Given the description of an element on the screen output the (x, y) to click on. 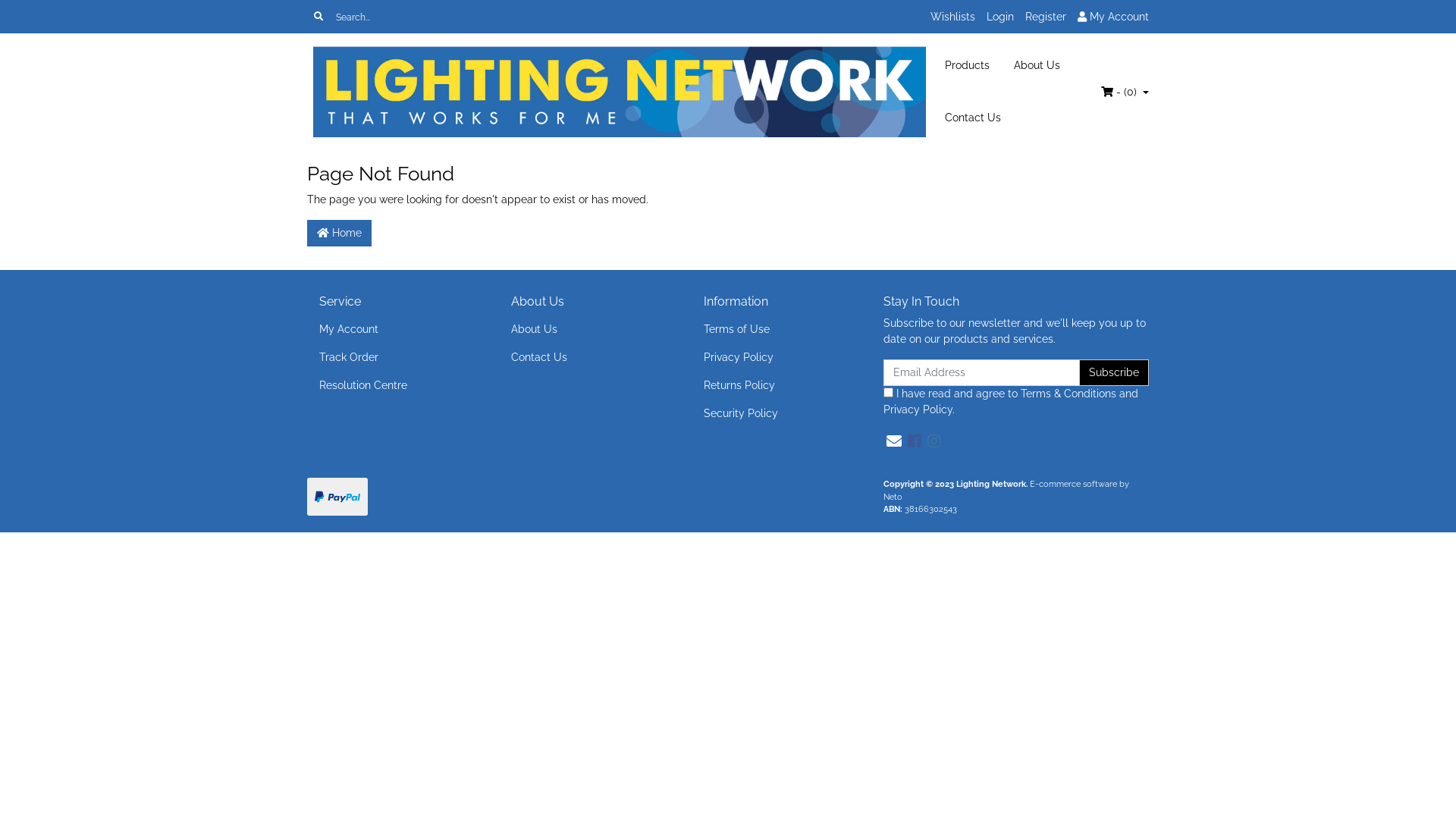
Search Element type: text (318, 16)
Products Element type: text (966, 65)
My Account Element type: text (1112, 16)
Contact Us Element type: text (583, 357)
Email us Element type: hover (893, 441)
About Us Element type: text (583, 329)
Privacy Policy Element type: text (917, 409)
Register Element type: text (1045, 16)
Instagram Element type: text (934, 441)
My Account Element type: text (391, 329)
Contact Us Element type: text (972, 117)
Home Element type: text (339, 232)
Terms of Use Element type: text (775, 329)
Login Element type: text (999, 16)
Facebook Element type: text (914, 441)
Privacy Policy Element type: text (775, 357)
Security Policy Element type: text (775, 413)
Returns Policy Element type: text (775, 385)
E-commerce software by Neto Element type: text (1006, 490)
Resolution Centre Element type: text (391, 385)
Wishlists Element type: text (952, 16)
- (0) Element type: text (1124, 91)
About Us Element type: text (1036, 65)
Terms & Conditions Element type: text (1068, 393)
Subscribe Element type: text (1113, 372)
Track Order Element type: text (391, 357)
